Given the description of an element on the screen output the (x, y) to click on. 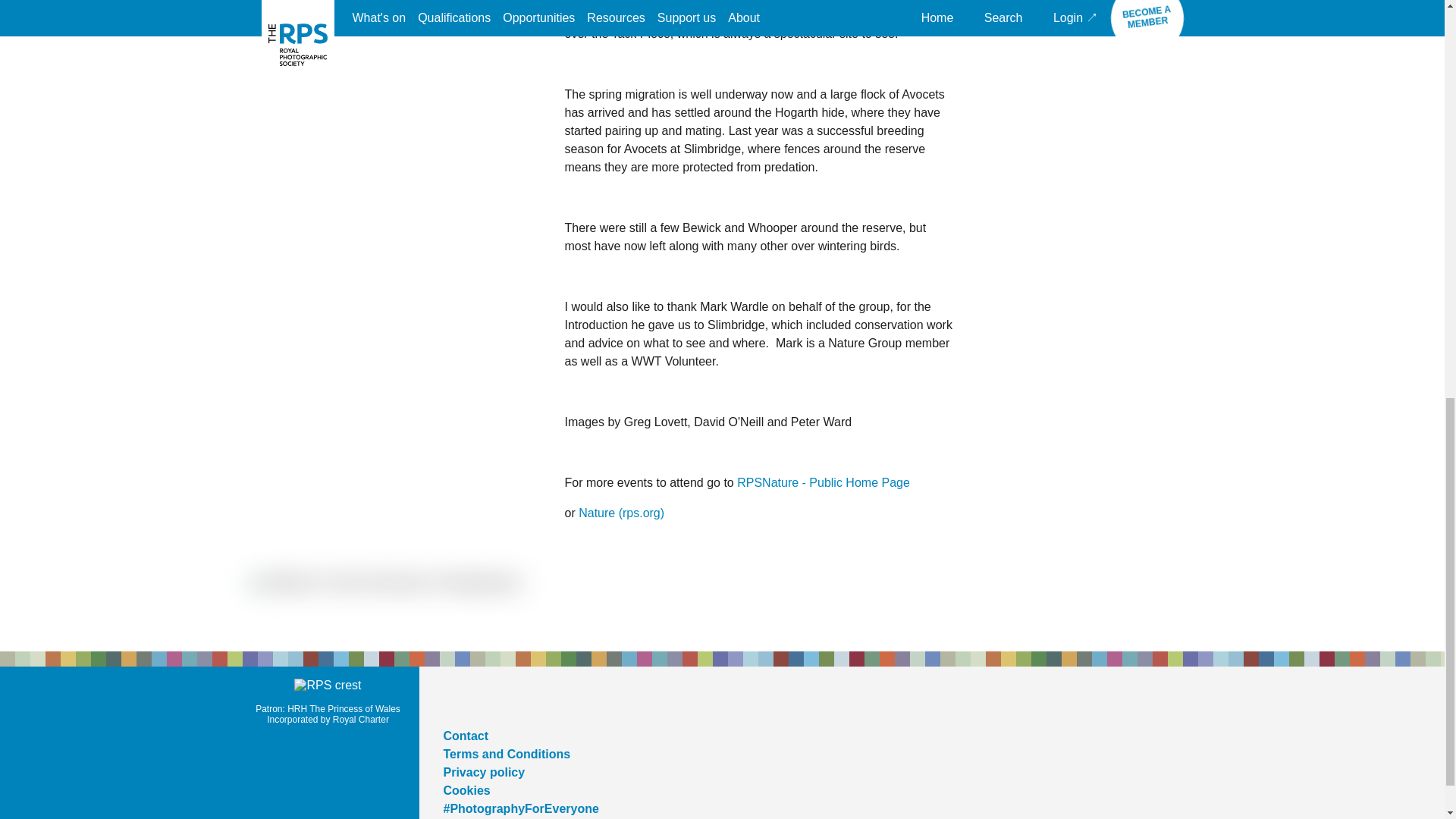
Terms and Conditions (506, 753)
RPSNature - Public Home Page (823, 481)
Cookies (465, 789)
RSS feed (563, 701)
Privacy policy (483, 771)
Twitter (452, 701)
Instagram (526, 701)
Contact (464, 735)
Facebook (490, 701)
